Given the description of an element on the screen output the (x, y) to click on. 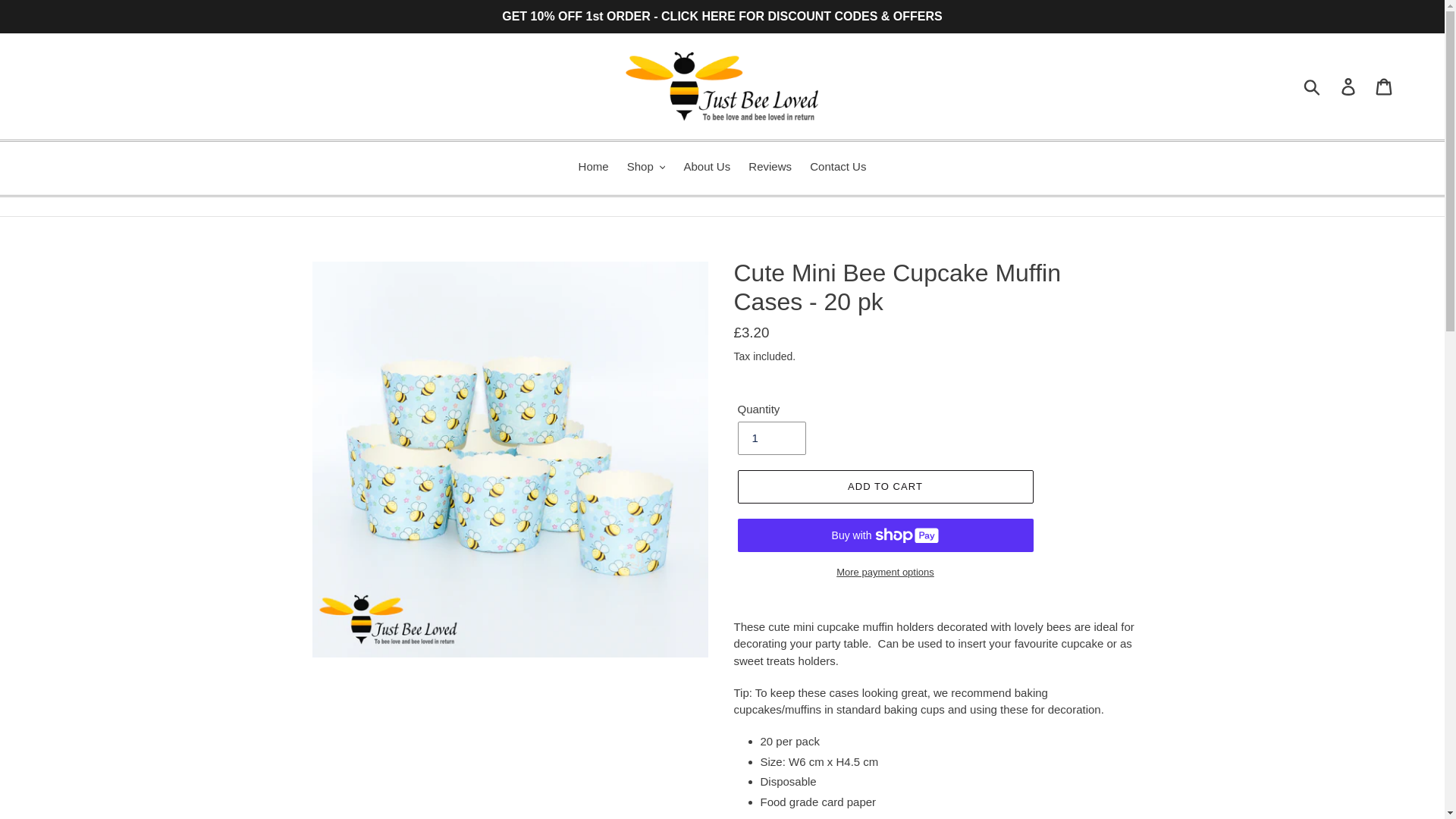
Cart (1385, 86)
Submit (1313, 86)
1 (770, 438)
Log in (1349, 86)
Home (592, 168)
